Given the description of an element on the screen output the (x, y) to click on. 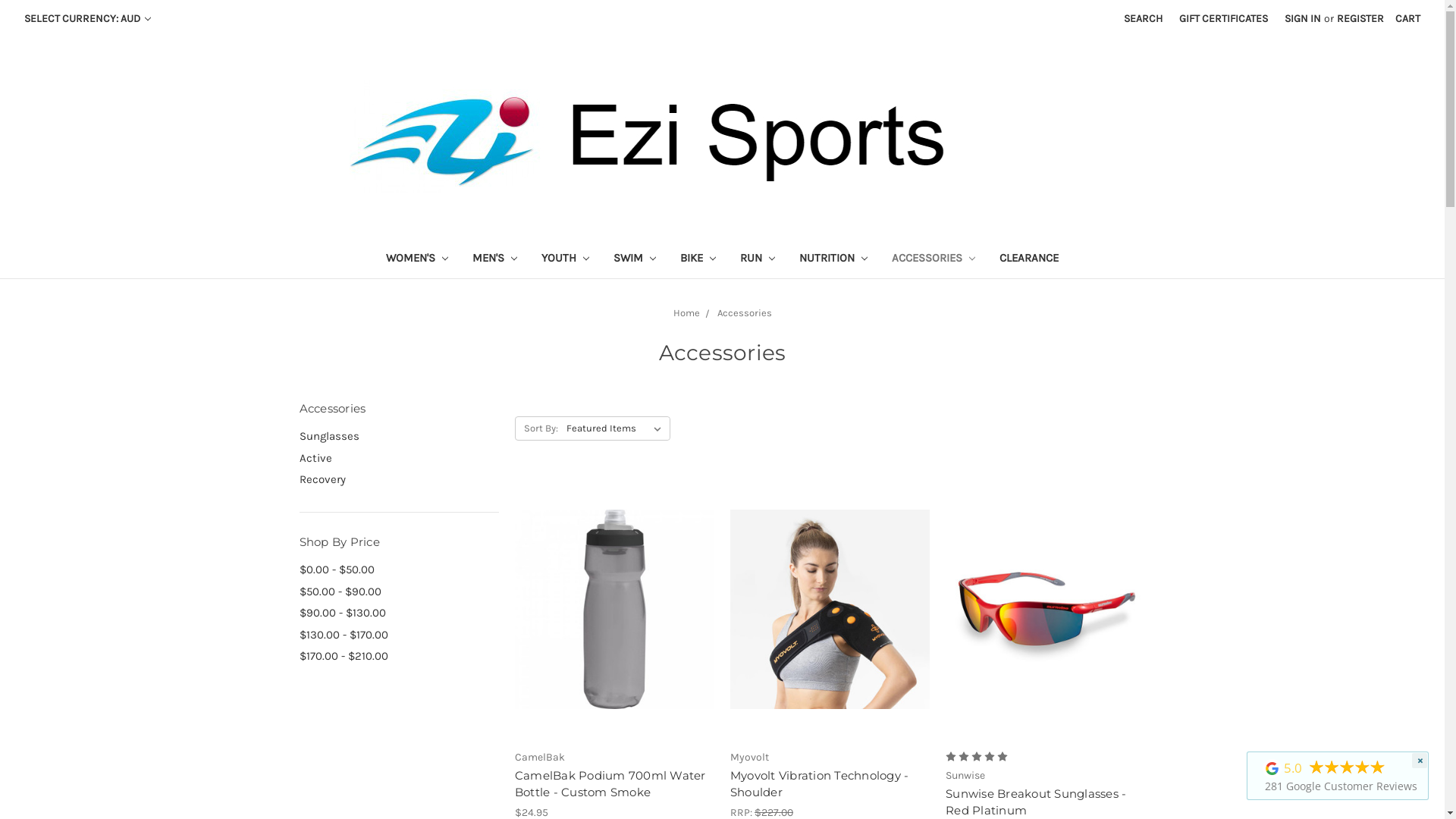
SIGN IN Element type: text (1302, 18)
RUN Element type: text (757, 259)
$90.00 - $130.00 Element type: text (398, 613)
Sunwise Breakout Sunglasses - Red Platinum Element type: text (1035, 802)
$50.00 - $90.00 Element type: text (398, 591)
CamelBak Podium 700ml Water Bottle - Custom Smoke Element type: hover (614, 609)
$0.00 - $50.00 Element type: text (398, 569)
SEARCH Element type: text (1142, 18)
BIKE Element type: text (698, 259)
CLEARANCE Element type: text (1028, 259)
Recovery Element type: text (398, 479)
WOMEN'S Element type: text (416, 259)
Active Element type: text (398, 458)
Breakout Red with Red Platinum Lens Element type: hover (1045, 609)
NUTRITION Element type: text (833, 259)
CamelBak Podium 700ml Water Bottle - Custom Smoke Element type: text (610, 784)
MEN'S Element type: text (494, 259)
Home Element type: text (686, 312)
$170.00 - $210.00 Element type: text (398, 656)
$130.00 - $170.00 Element type: text (398, 635)
Sunglasses Element type: text (398, 436)
Ezi Sports Element type: hover (721, 136)
CART Element type: text (1407, 18)
Myovolt Vibration Technology - Shoulder Element type: hover (829, 609)
REGISTER Element type: text (1360, 18)
 5.0  Element type: text (1292, 767)
SELECT CURRENCY: AUD Element type: text (87, 18)
 281 Google Customer Reviews Element type: text (1339, 786)
Myovolt Vibration Technology - Shoulder Element type: text (819, 784)
ACCESSORIES Element type: text (933, 259)
YOUTH Element type: text (565, 259)
GIFT CERTIFICATES Element type: text (1223, 18)
SWIM Element type: text (634, 259)
